Given the description of an element on the screen output the (x, y) to click on. 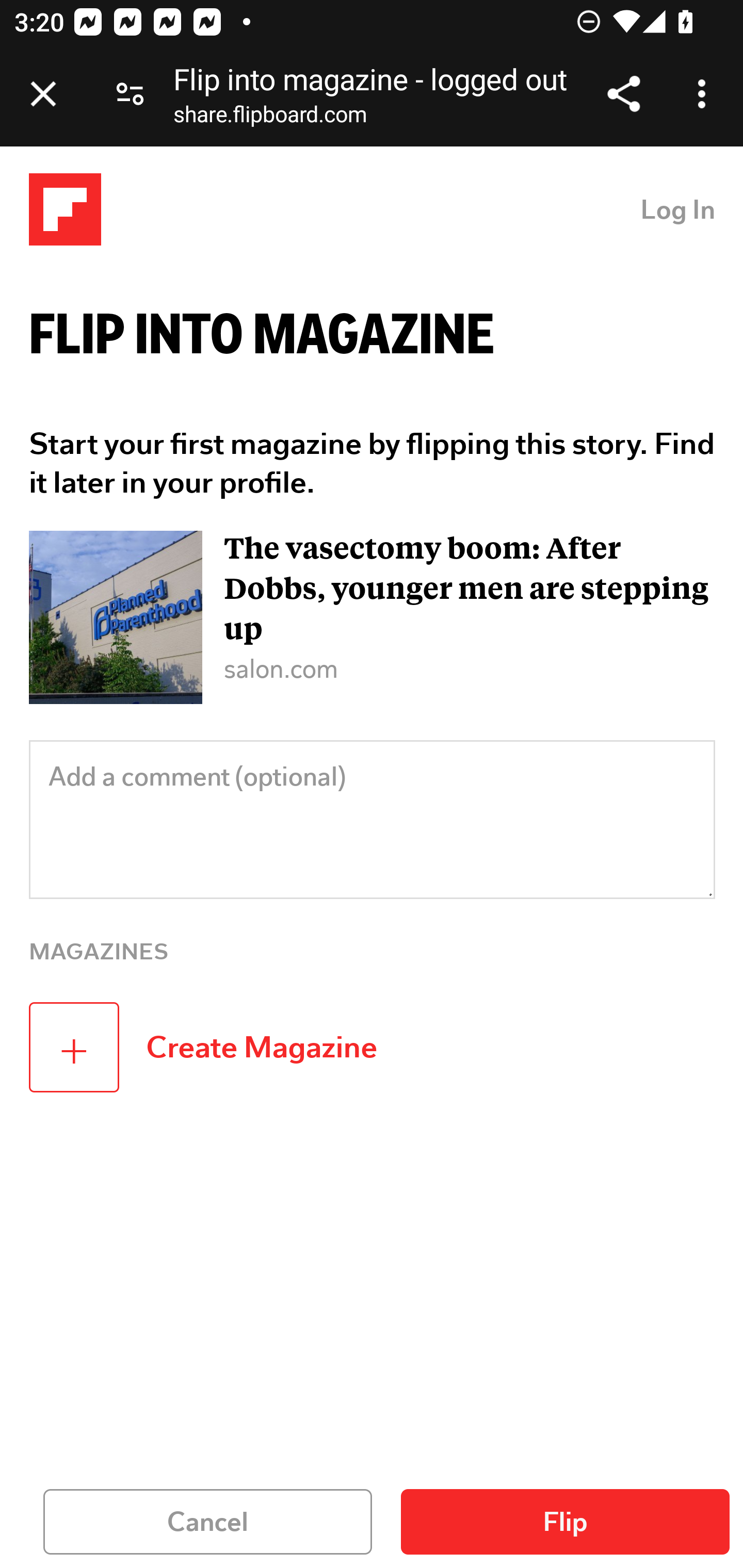
Close tab (43, 93)
Share link address (623, 93)
Customize and control Google Chrome (705, 93)
Connection is secure (129, 93)
share.flipboard.com (270, 117)
Cancel (208, 1521)
Flip (566, 1521)
